Given the description of an element on the screen output the (x, y) to click on. 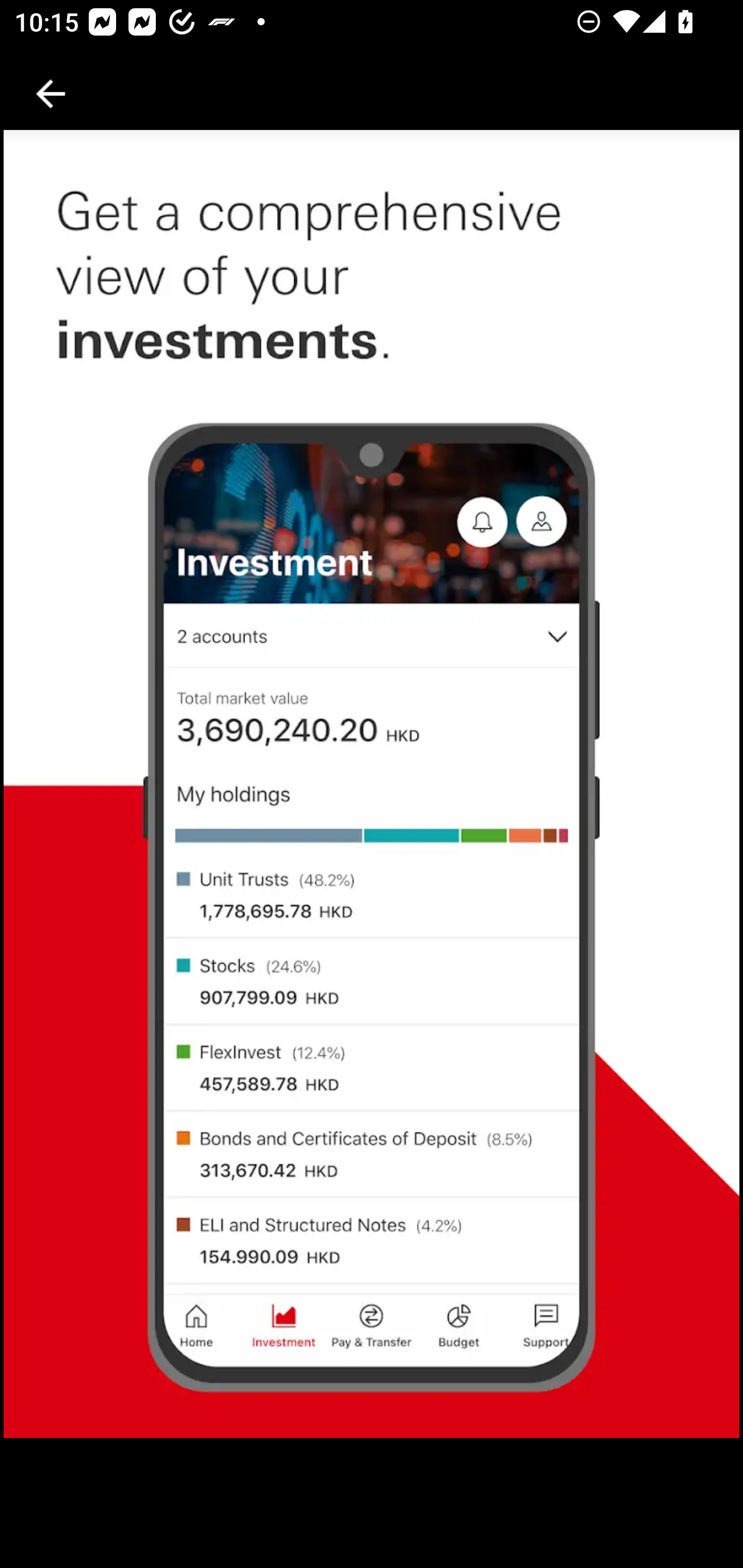
Back (50, 93)
